Given the description of an element on the screen output the (x, y) to click on. 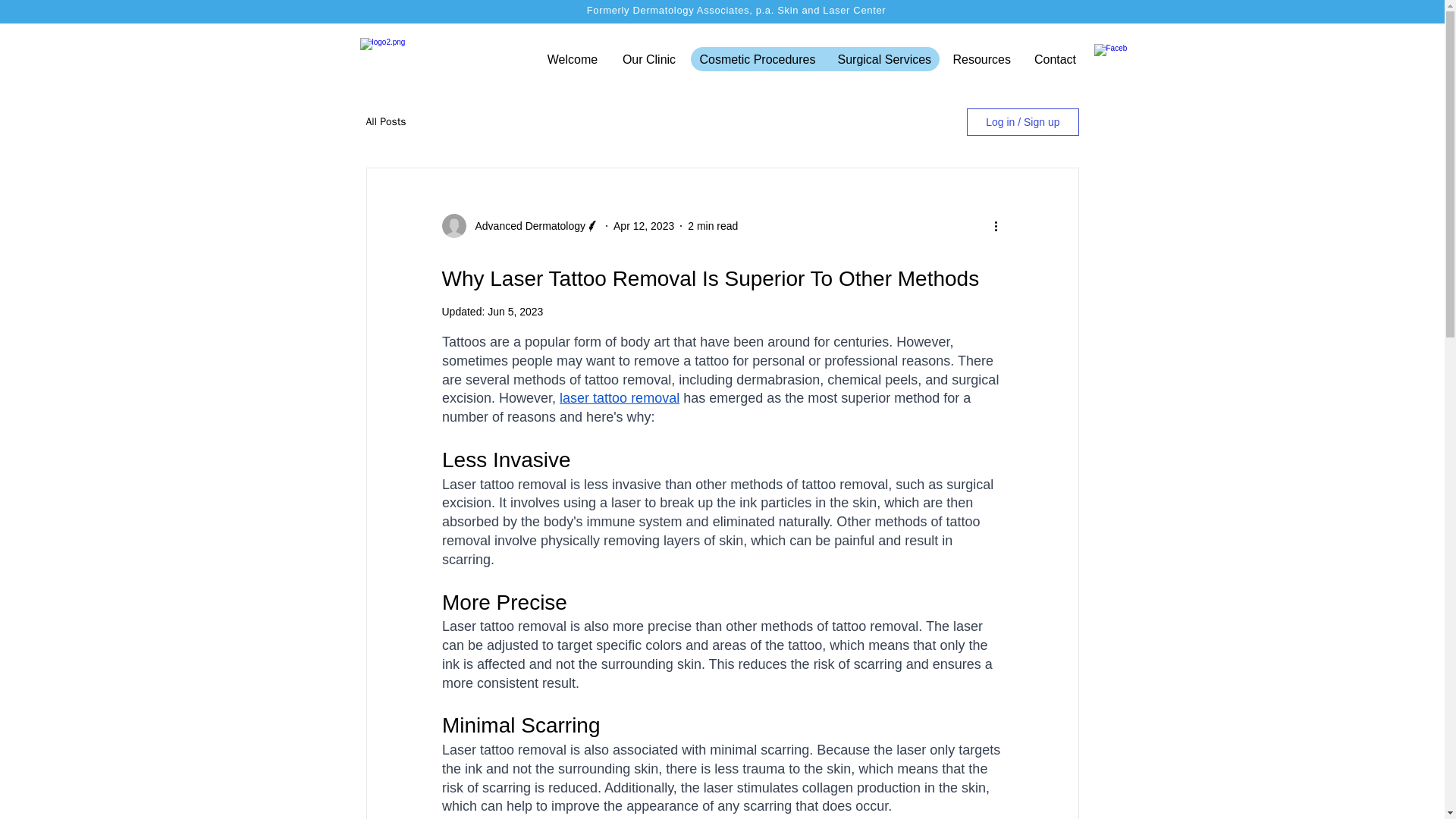
2 min read (712, 225)
Advanced Dermatology (525, 226)
Jun 5, 2023 (515, 311)
Cosmetic Procedures (757, 59)
laser tattoo removal (619, 397)
All Posts (385, 121)
Apr 12, 2023 (643, 225)
Welcome (572, 59)
Surgical Services (884, 59)
Contact (1055, 59)
